Given the description of an element on the screen output the (x, y) to click on. 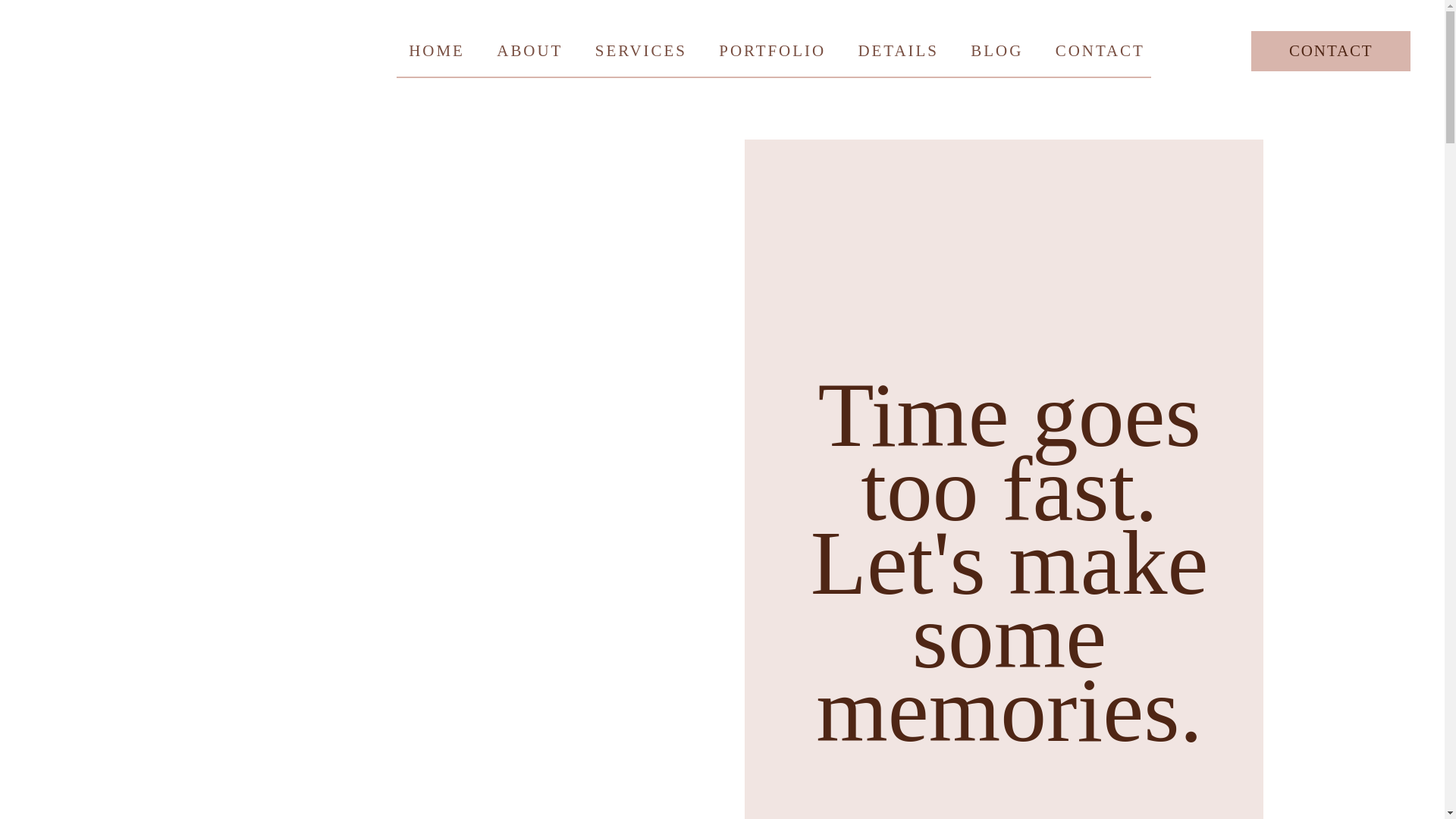
CONTACT (1330, 51)
DETAILS (899, 50)
BLOG (997, 50)
SERVICES (641, 50)
HOME (436, 50)
CONTACT (1099, 50)
PORTFOLIO (772, 50)
ABOUT (529, 50)
